Given the description of an element on the screen output the (x, y) to click on. 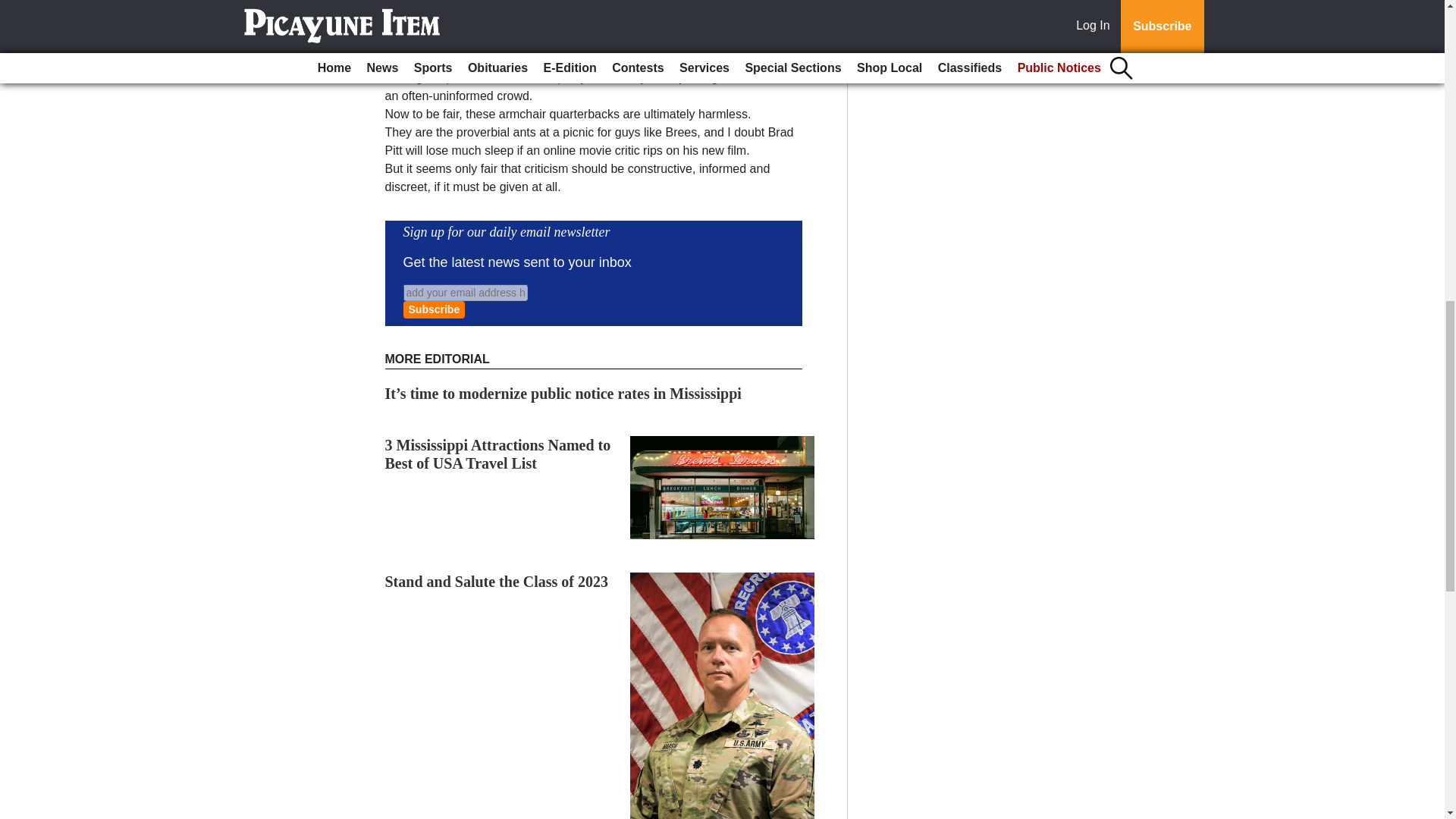
Stand and Salute the Class of 2023 (496, 581)
Subscribe (434, 309)
Stand and Salute the Class of 2023 (496, 581)
3 Mississippi Attractions Named to Best of USA Travel List (498, 453)
Subscribe (434, 309)
3 Mississippi Attractions Named to Best of USA Travel List (498, 453)
